Given the description of an element on the screen output the (x, y) to click on. 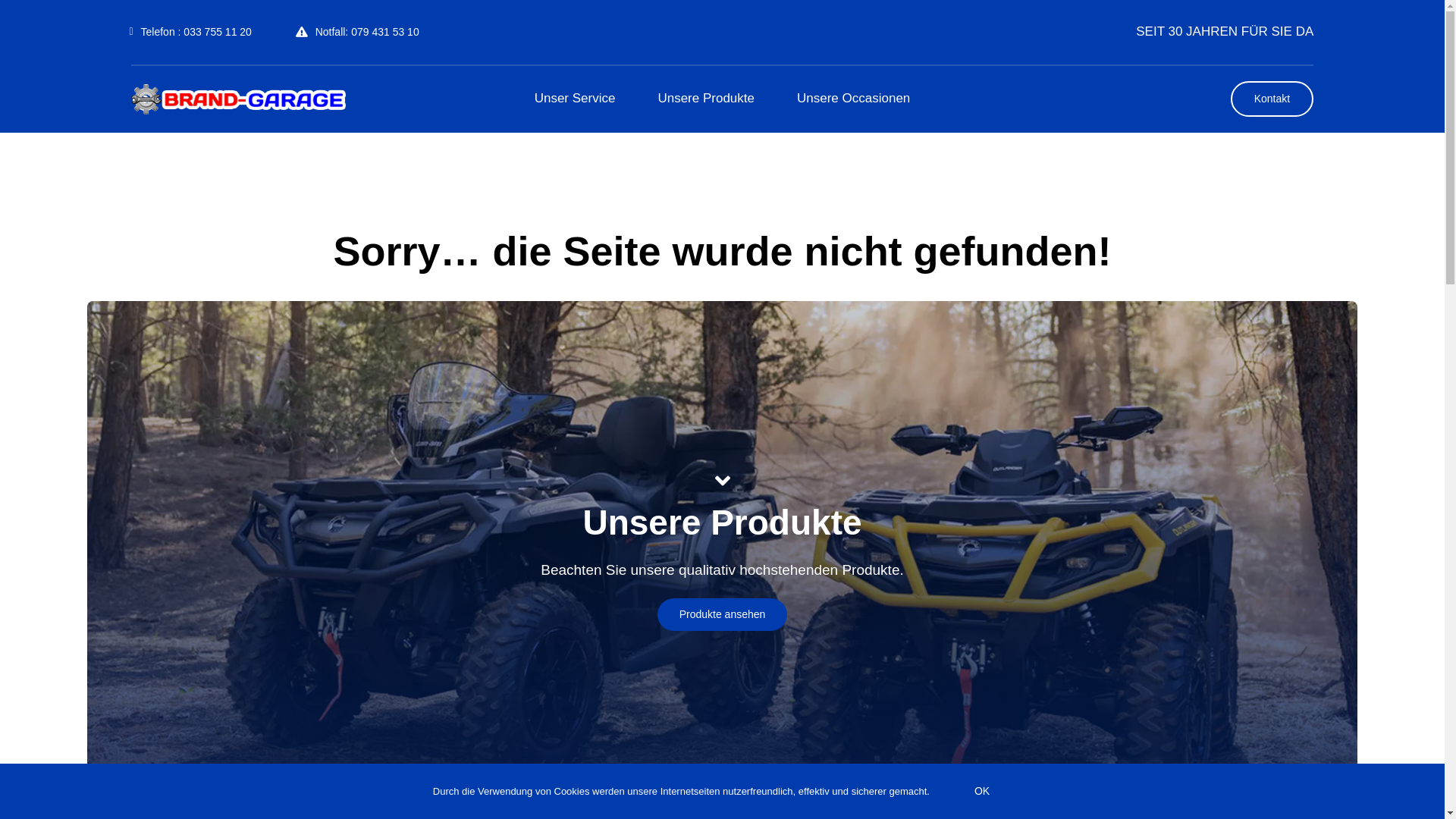
Produkte ansehen Element type: text (722, 614)
Kontakt Element type: text (1271, 98)
OK Element type: text (981, 791)
Telefon : 033 755 11 20 Element type: text (190, 31)
Unsere Occasionen Element type: text (853, 98)
Unser Service Element type: text (575, 98)
Unsere Produkte Element type: text (705, 98)
Notfall: 079 431 53 10 Element type: text (357, 31)
